Given the description of an element on the screen output the (x, y) to click on. 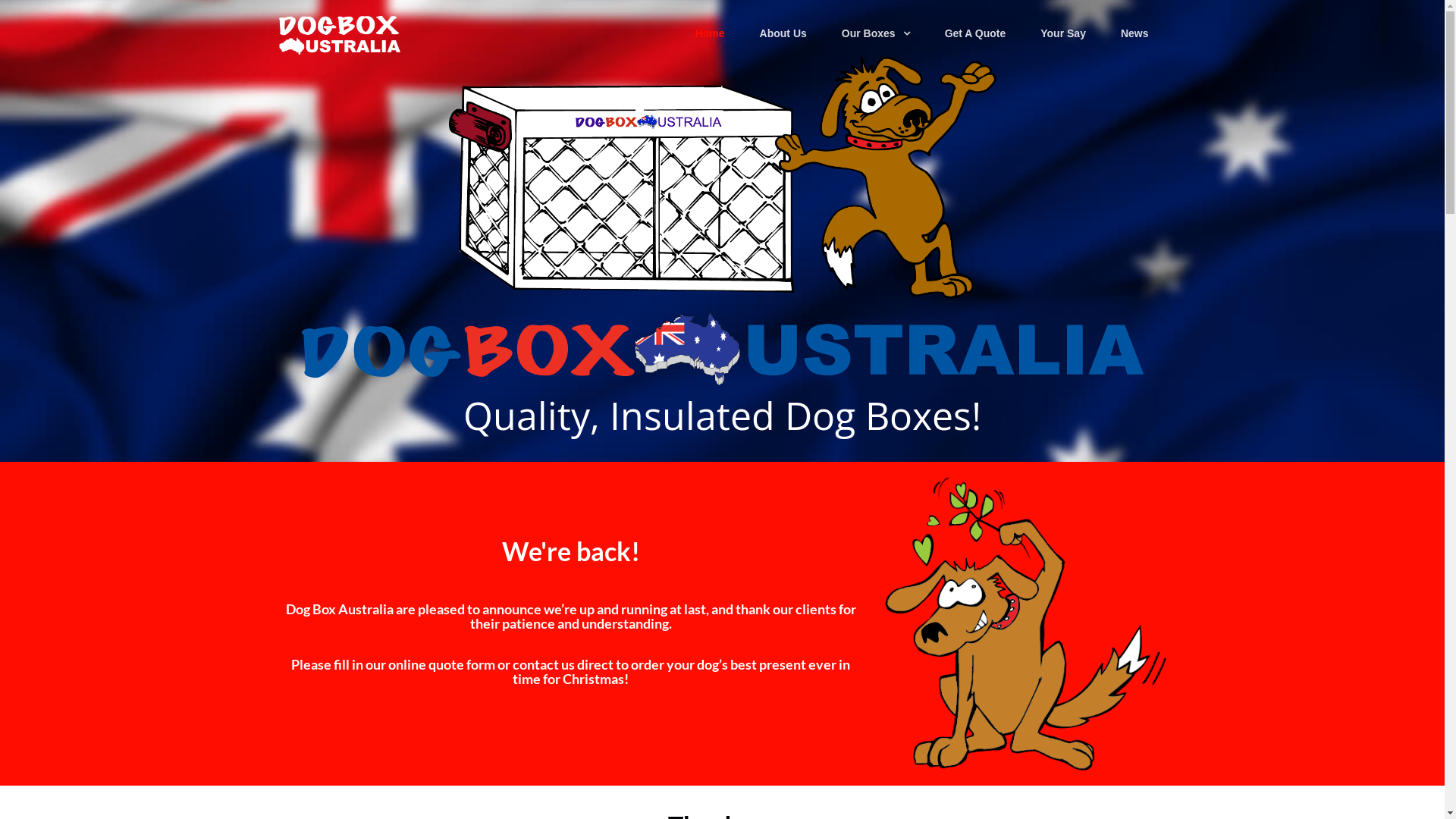
Dog Box Australia's insulated dog boxes for your best mate! Element type: hover (339, 34)
Your Say Element type: text (1062, 33)
News Element type: text (1134, 33)
About Us Element type: text (783, 33)
Our Boxes Element type: text (875, 33)
Home Element type: text (709, 33)
Present pleeeeease Element type: hover (1025, 623)
Get A Quote Element type: text (975, 33)
